Given the description of an element on the screen output the (x, y) to click on. 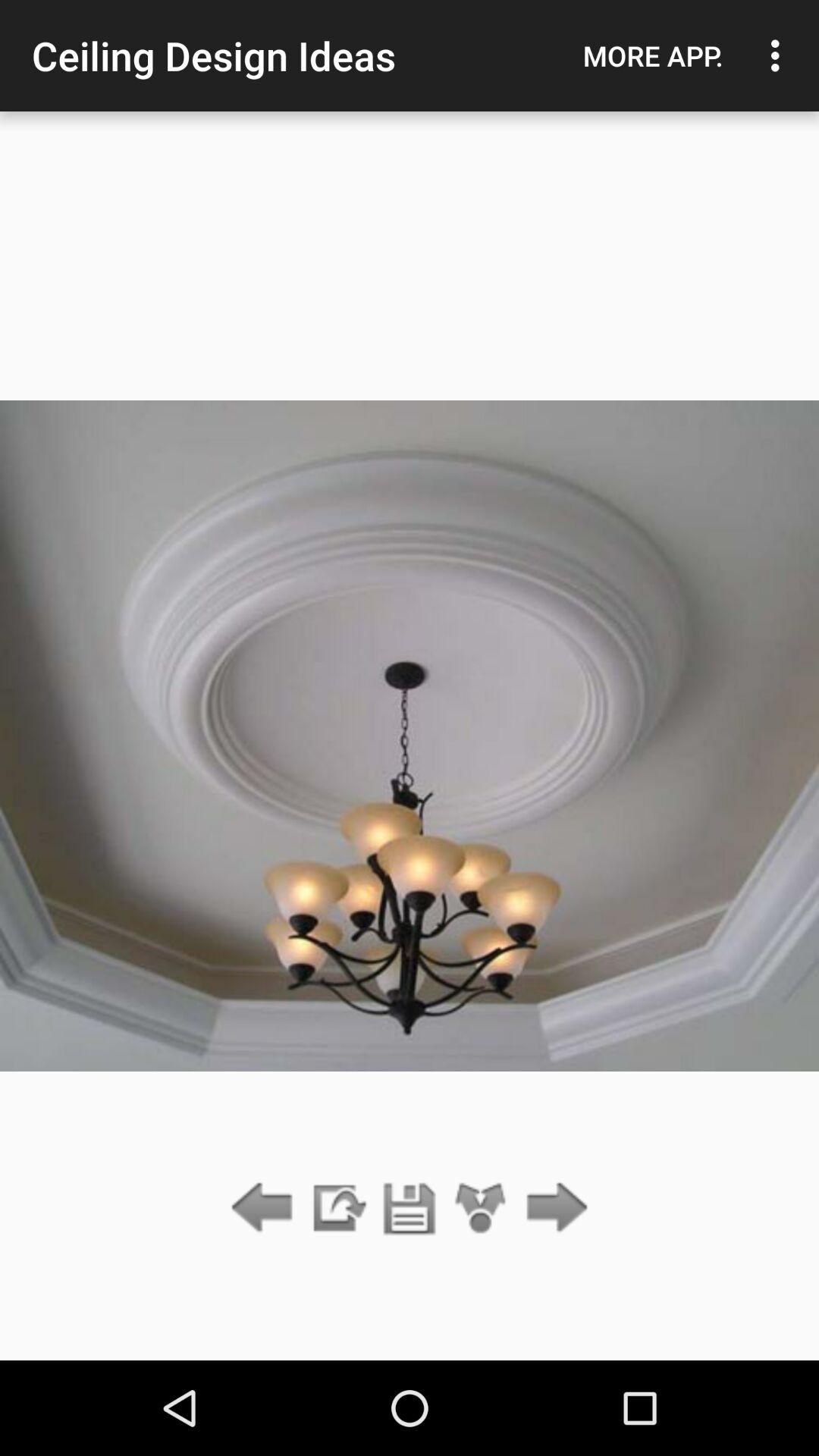
select icon below ceiling design ideas icon (409, 1208)
